Given the description of an element on the screen output the (x, y) to click on. 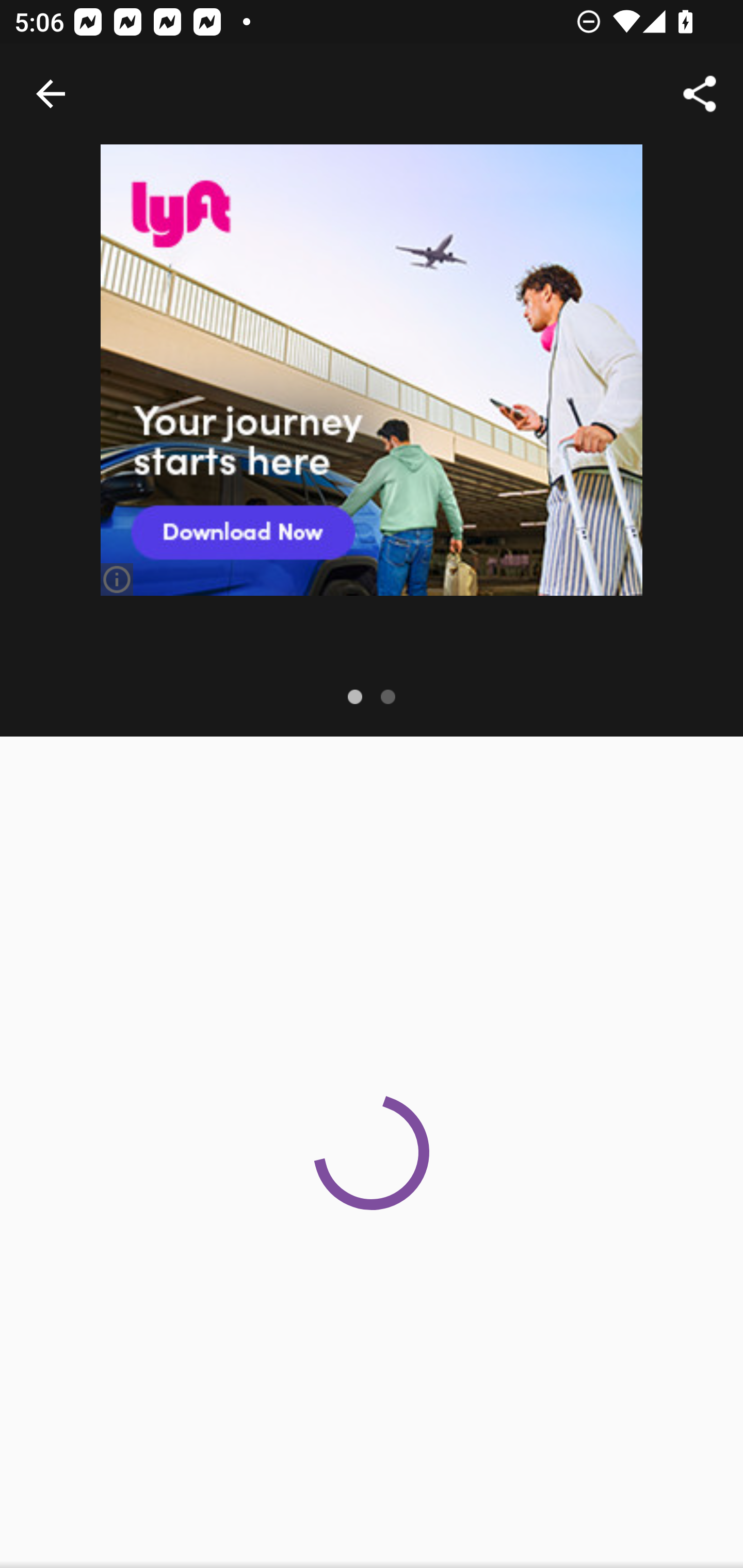
Navigate up (50, 93)
Share... (699, 93)
